Given the description of an element on the screen output the (x, y) to click on. 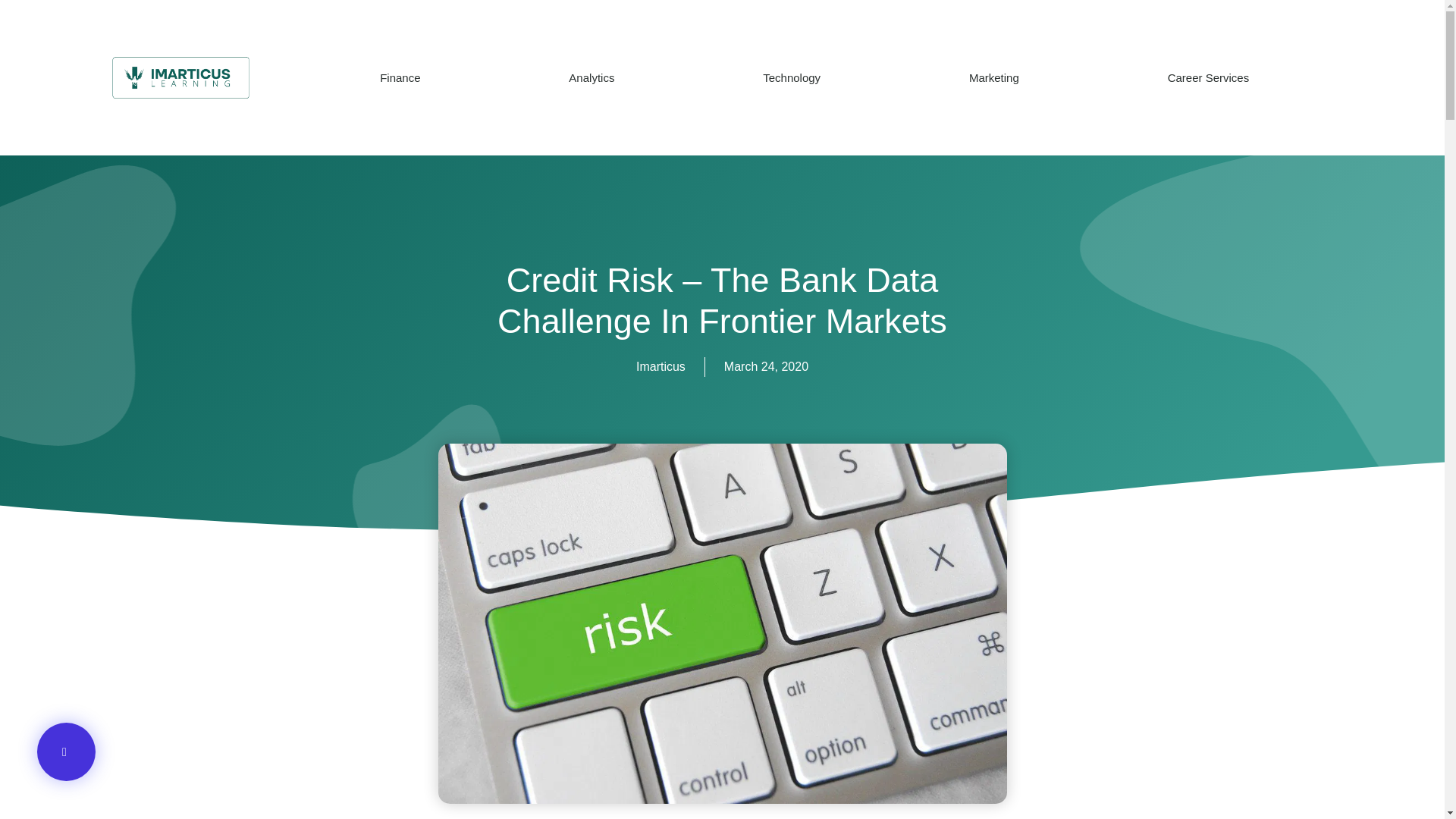
Career Services (1208, 77)
March 24, 2020 (765, 366)
Finance (400, 77)
Technology (791, 77)
Imarticus (660, 366)
Marketing (994, 77)
Analytics (591, 77)
